Given the description of an element on the screen output the (x, y) to click on. 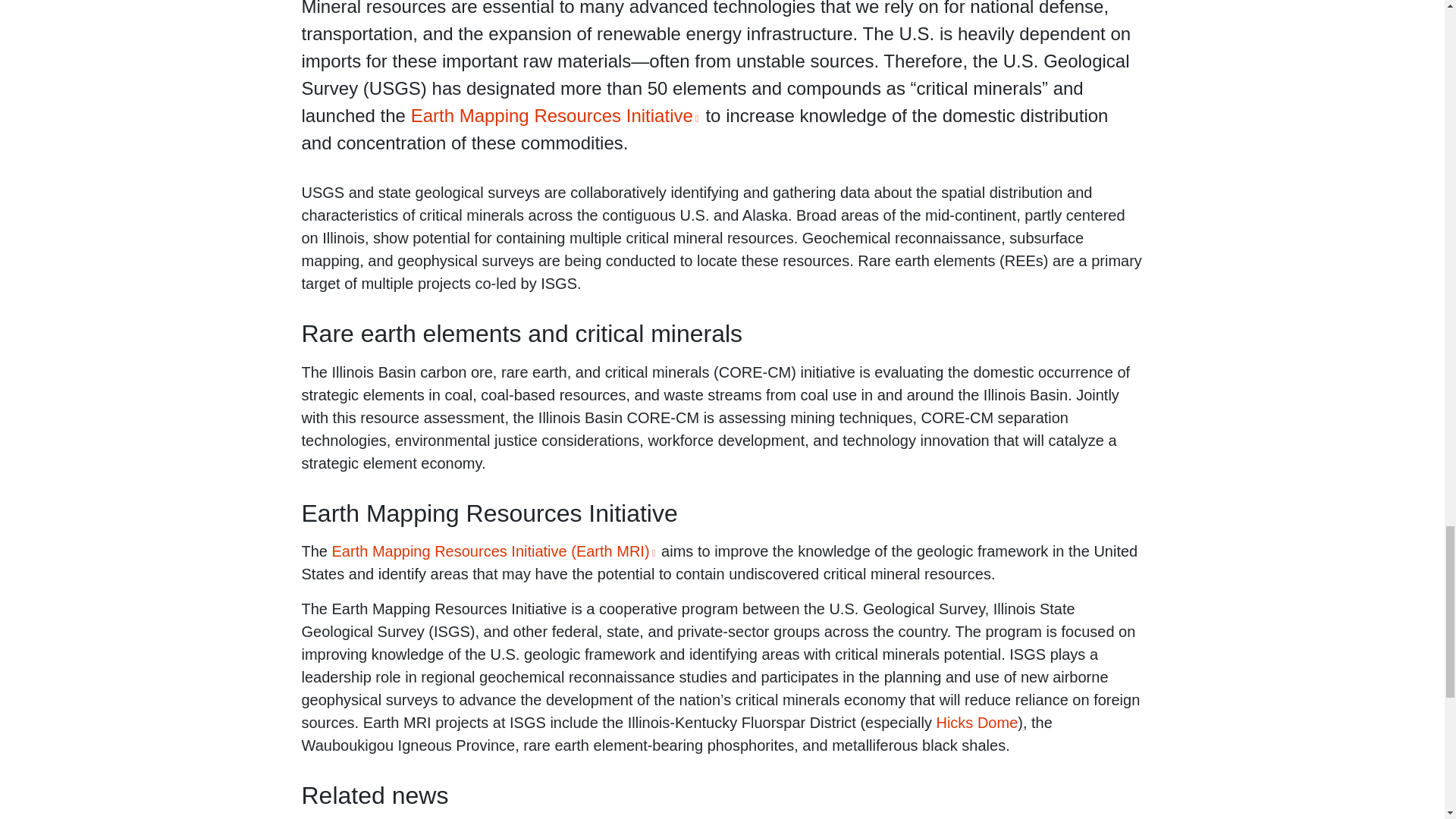
Earth Mapping Resources Initiative (555, 115)
Hicks Dome (976, 722)
